Given the description of an element on the screen output the (x, y) to click on. 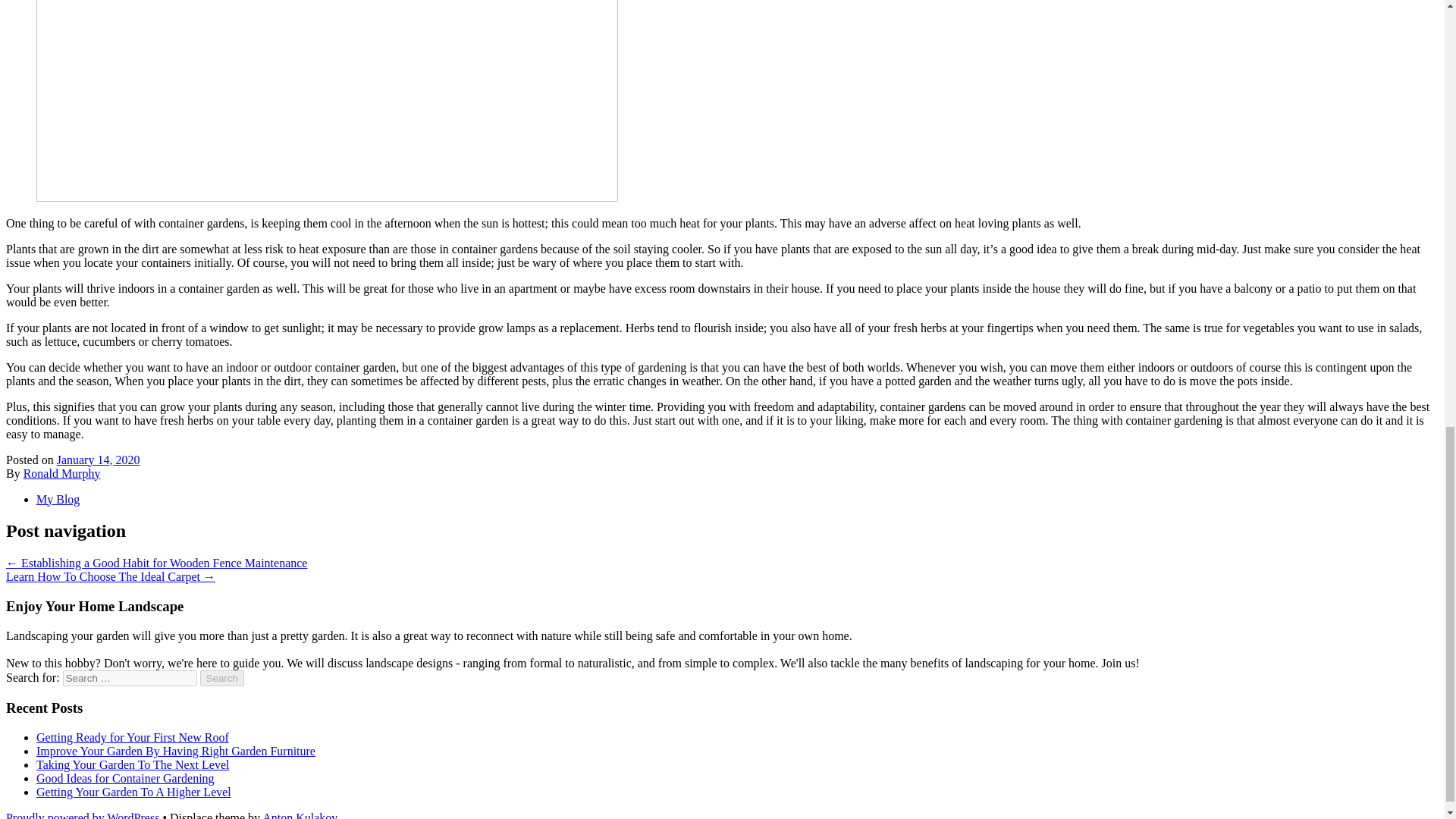
January 14, 2020 (97, 459)
Getting Ready for Your First New Roof (132, 737)
Permalink to Why Container Gardening Works Best (97, 459)
View all posts by Ronald Murphy (61, 472)
Search (222, 678)
Improve Your Garden By Having Right Garden Furniture (175, 750)
Good Ideas for Container Gardening (125, 778)
View all posts in My Blog (58, 498)
Search (222, 678)
Taking Your Garden To The Next Level (132, 764)
My Blog (58, 498)
Getting Your Garden To A Higher Level (133, 791)
Ronald Murphy (61, 472)
Search (222, 678)
